Given the description of an element on the screen output the (x, y) to click on. 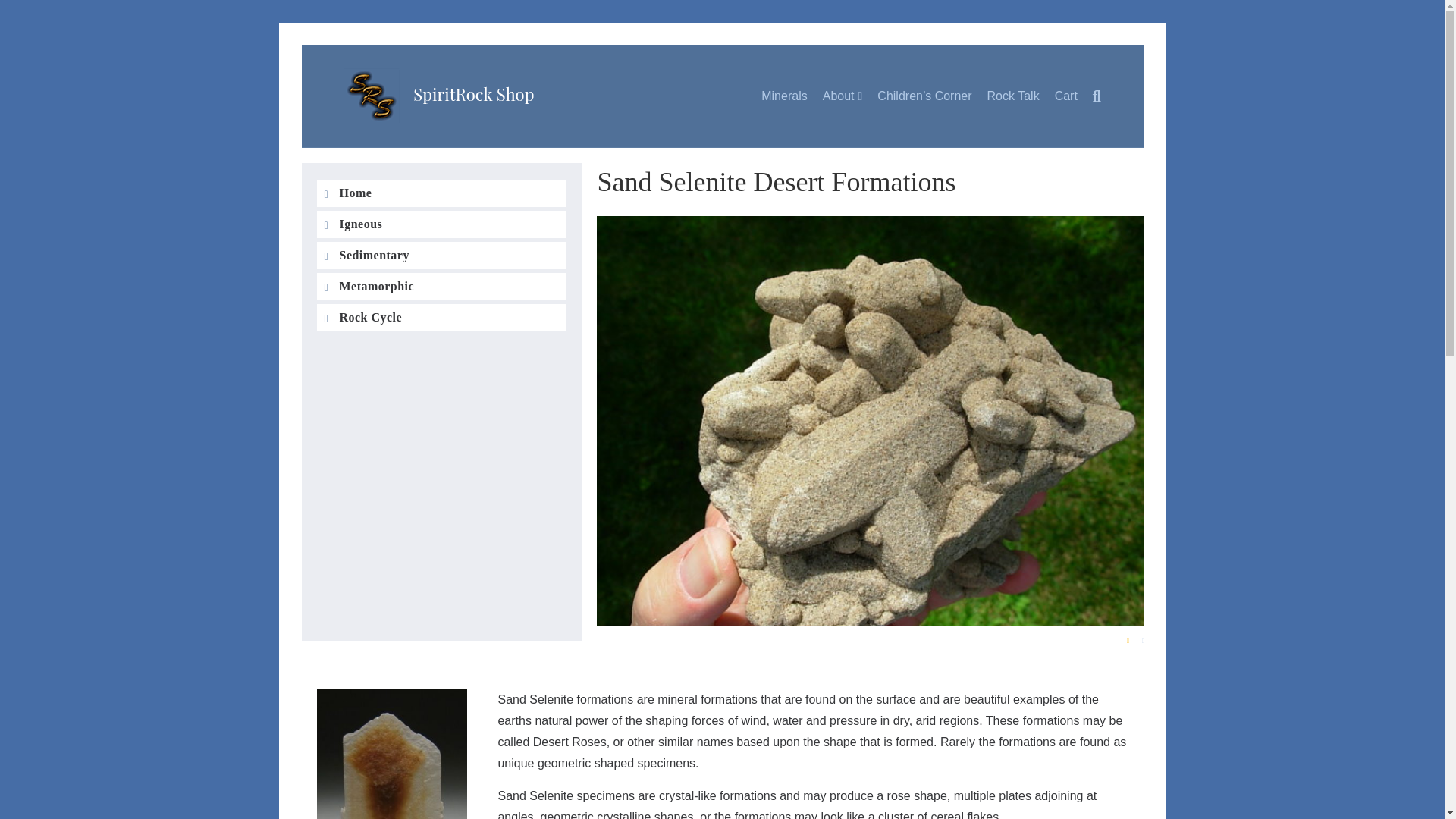
Sedimentary (442, 255)
Minerals (783, 96)
1 (1128, 640)
2 (1143, 640)
Rock Talk (1012, 96)
About (842, 96)
Metamorphic (442, 286)
Rock Cycle (442, 317)
Cart (1065, 96)
Home (442, 193)
